Given the description of an element on the screen output the (x, y) to click on. 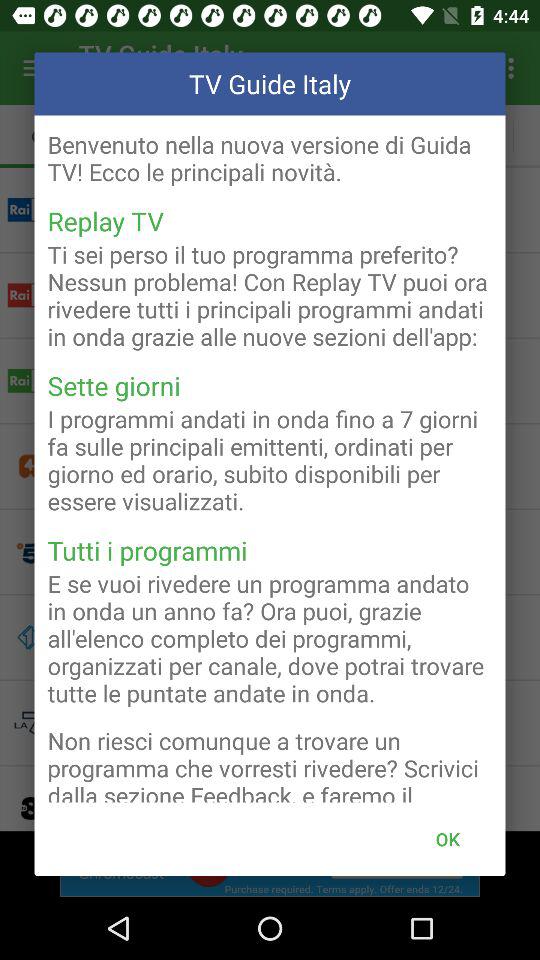
select the button at the bottom right corner (447, 838)
